Given the description of an element on the screen output the (x, y) to click on. 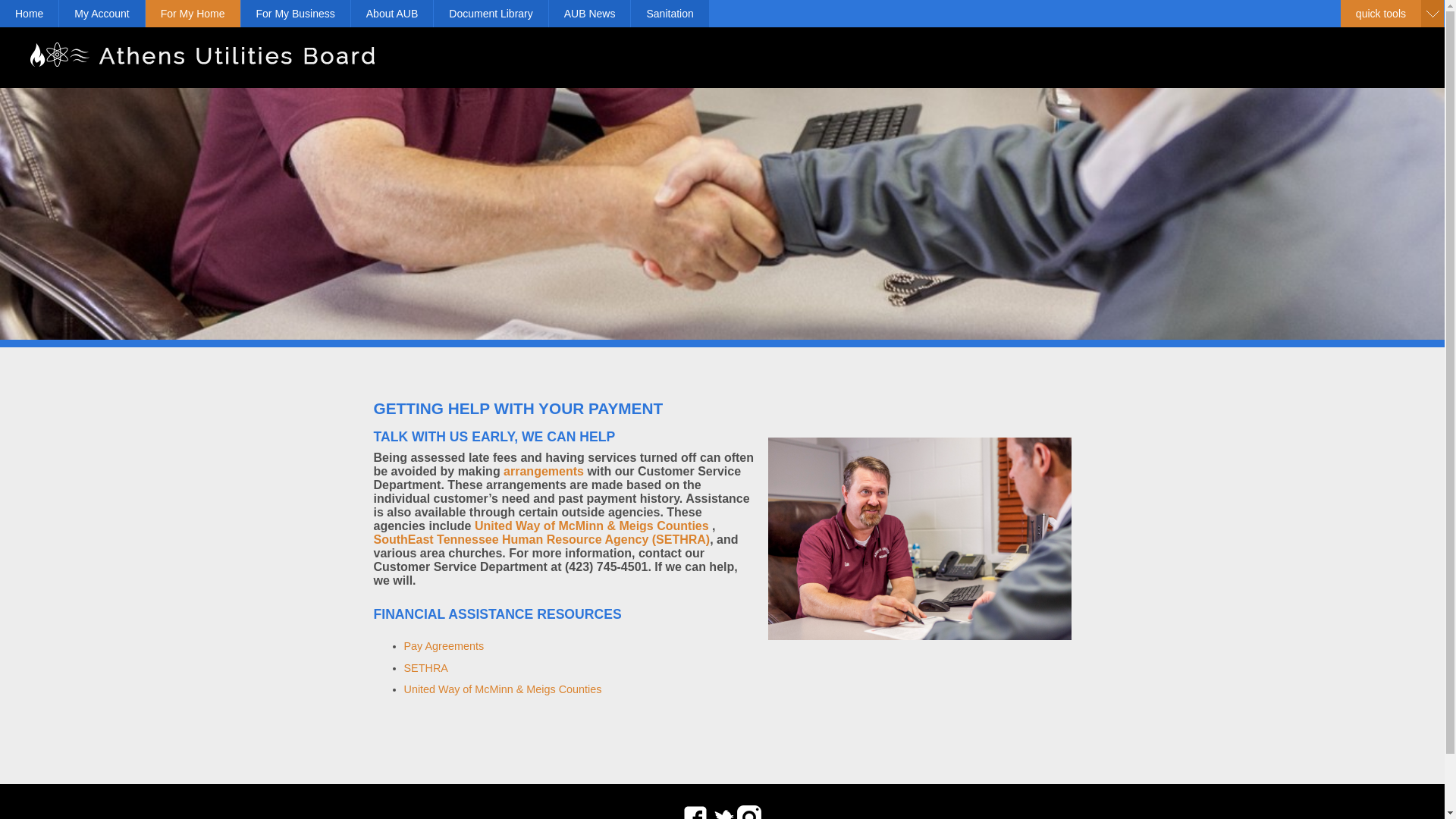
For My Business (295, 13)
My Account (101, 13)
Home (29, 13)
For My Home (192, 13)
